Given the description of an element on the screen output the (x, y) to click on. 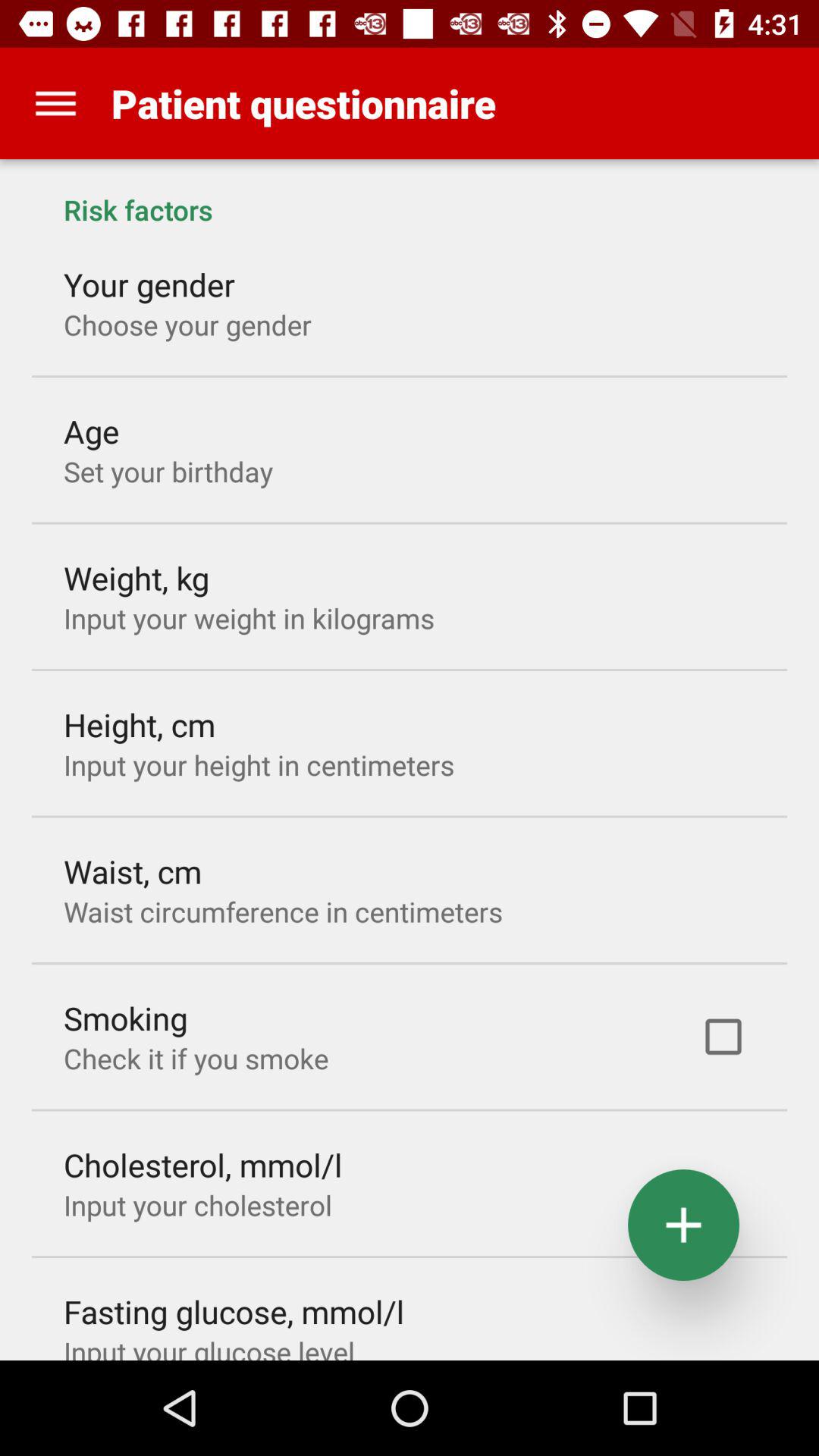
launch the icon above your gender item (409, 193)
